Given the description of an element on the screen output the (x, y) to click on. 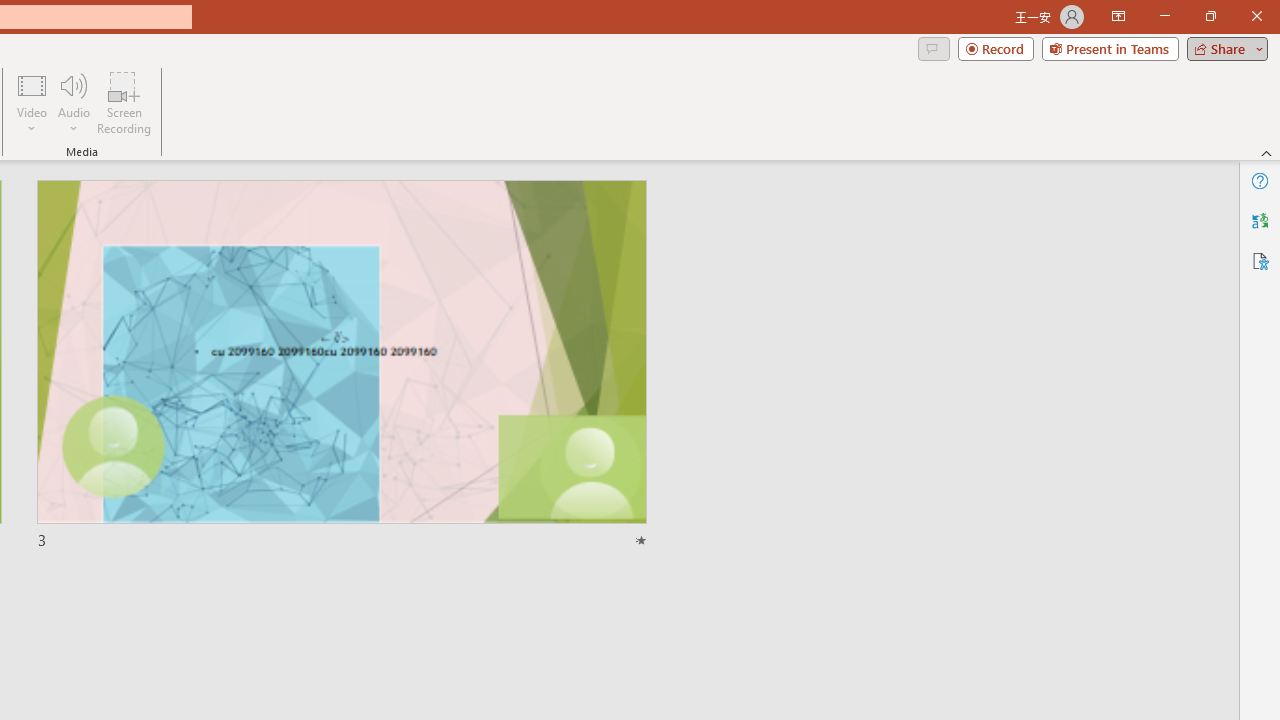
Screen Recording... (123, 102)
Ribbon Display Options (1118, 16)
Slide (341, 365)
Minimize (1164, 16)
Audio (73, 102)
Video (31, 102)
Restore Down (1210, 16)
Share (1223, 48)
Collapse the Ribbon (1267, 152)
Present in Teams (1109, 48)
